Given the description of an element on the screen output the (x, y) to click on. 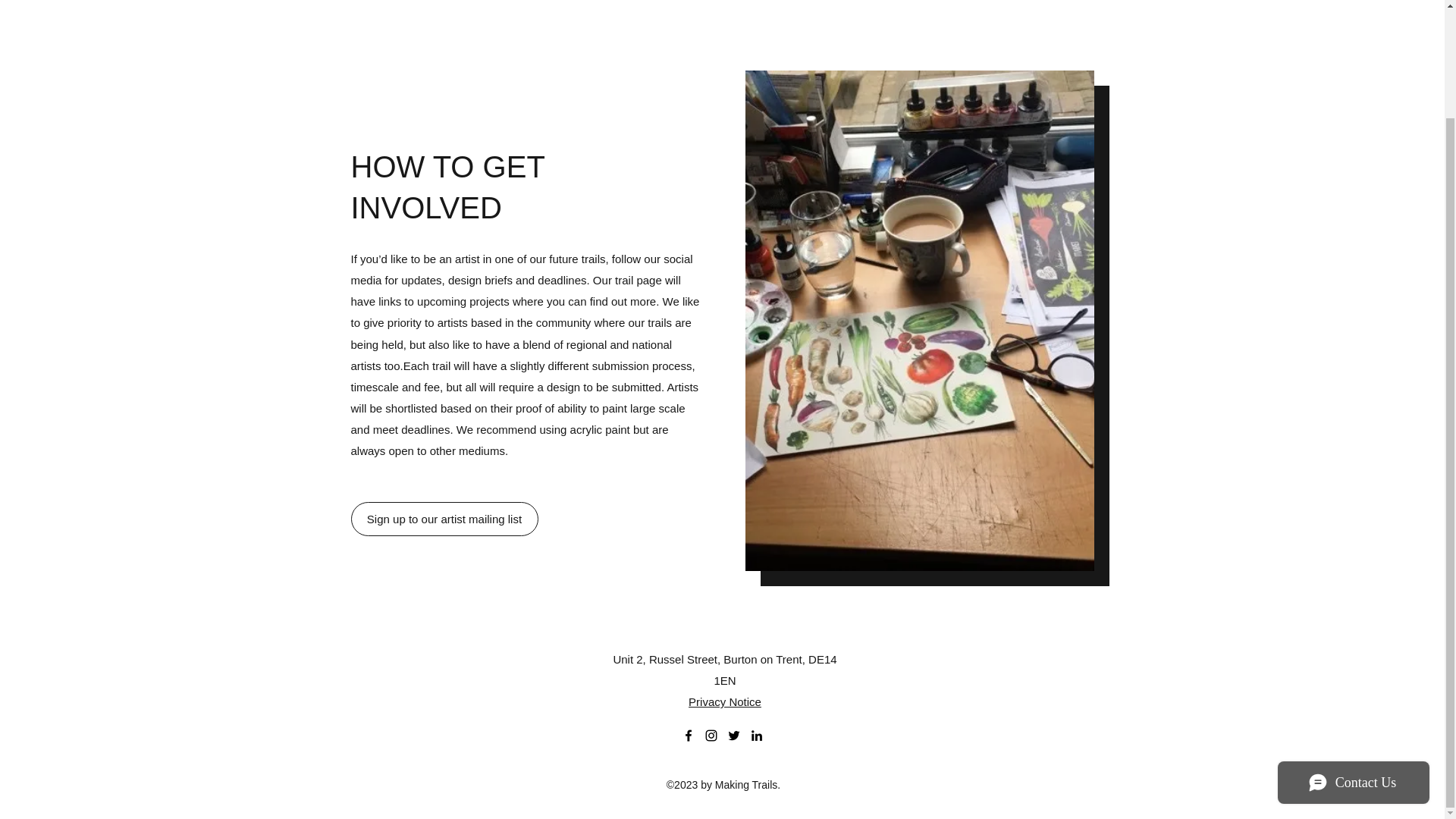
Trails (777, 1)
How it works (675, 1)
Home (570, 1)
Artists (735, 1)
Sign up to our artist mailing list (443, 519)
Burton Barrel Roll (846, 1)
Privacy Notice (724, 701)
About (614, 1)
